Given the description of an element on the screen output the (x, y) to click on. 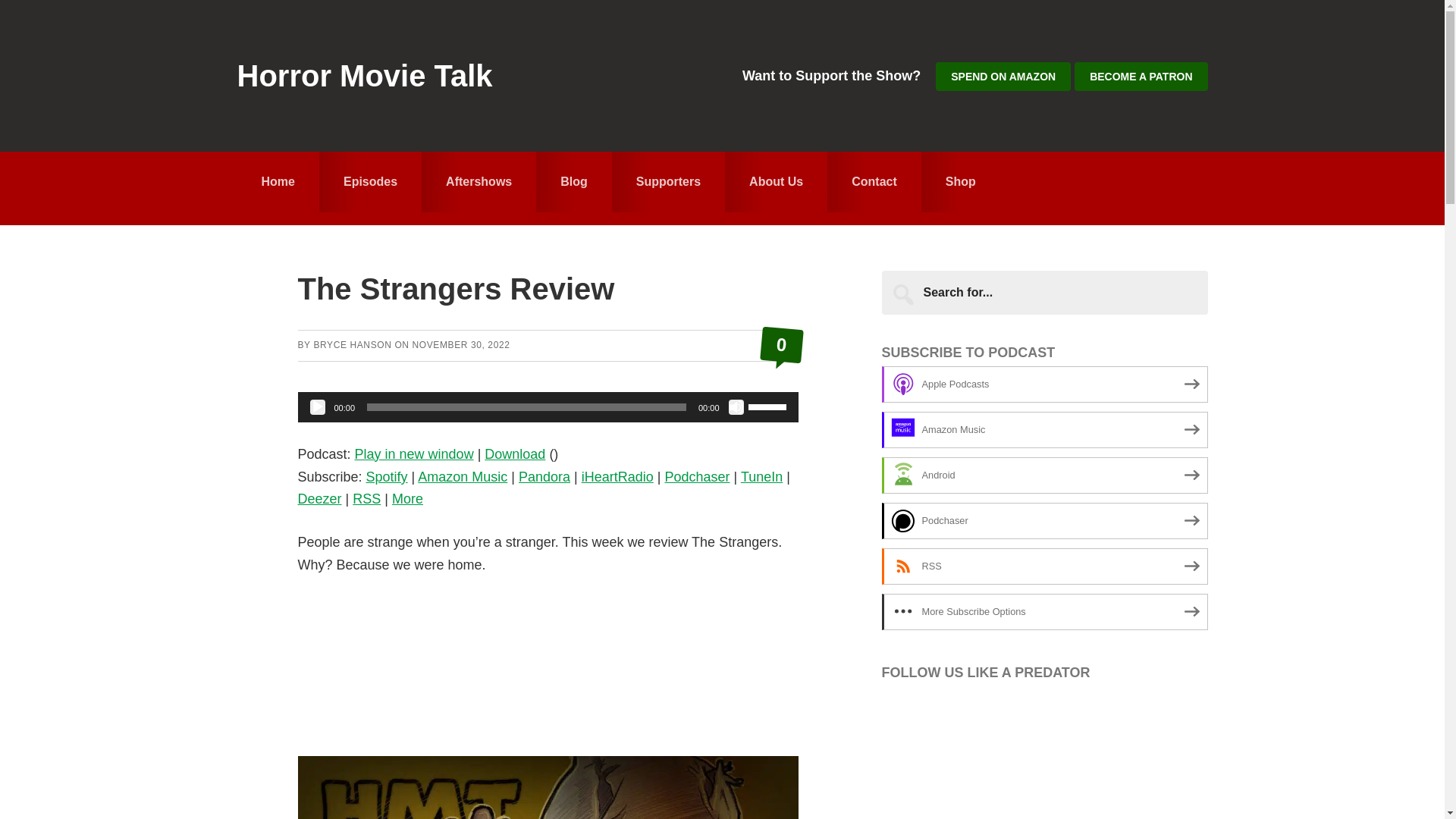
Episodes (370, 181)
More (407, 498)
TuneIn (762, 476)
Amazon Music (461, 476)
Subscribe on Deezer (318, 498)
Spotify (386, 476)
Podchaser (696, 476)
Supporters (668, 181)
Subscribe on Amazon Music (1043, 429)
